Given the description of an element on the screen output the (x, y) to click on. 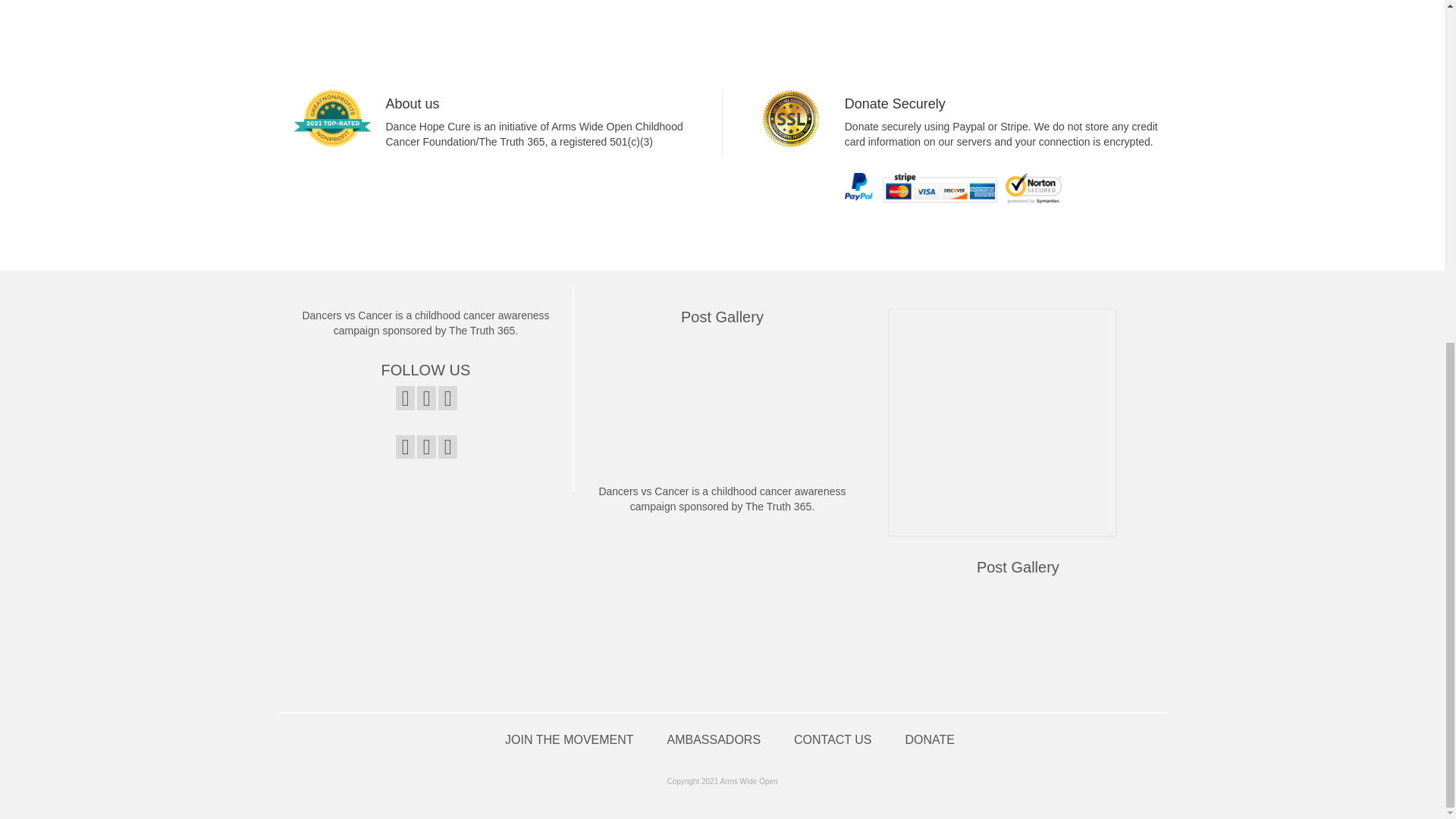
Instagram (447, 397)
Emma Nahas (617, 362)
Kennedy Keller and Abri Bentley (746, 362)
Kassiana Gilice (617, 427)
Jaxon Keller and Abri Bentley (681, 362)
Facebook (405, 397)
Facebook (405, 446)
Addison, Mack, and Isla (810, 362)
Instagram (447, 446)
Twitter (425, 397)
Twitter (425, 446)
